Given the description of an element on the screen output the (x, y) to click on. 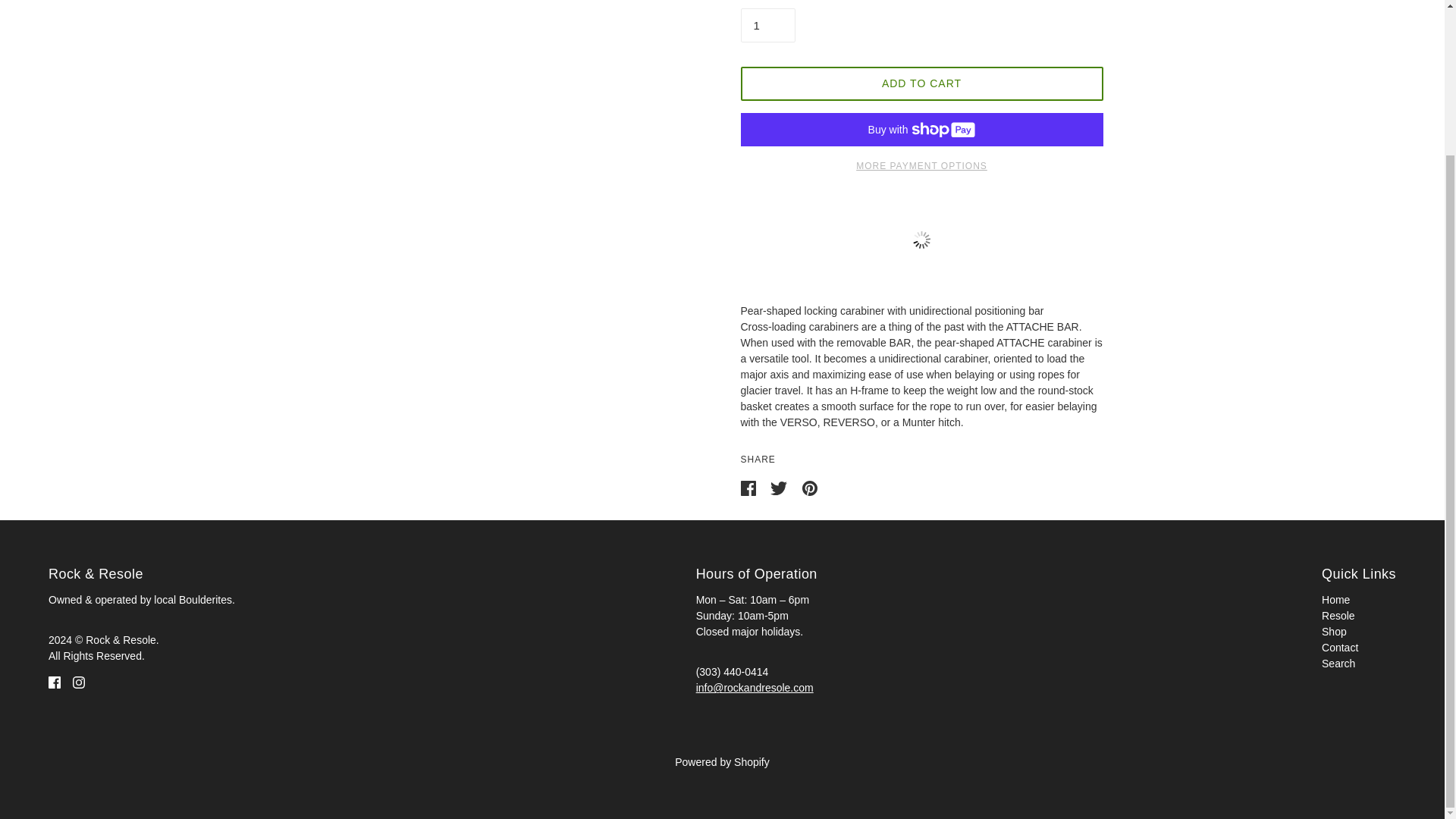
Contact (1340, 647)
Search (1338, 663)
Home (1335, 599)
1 (766, 25)
Resole (1338, 615)
Shop (1334, 631)
